Given the description of an element on the screen output the (x, y) to click on. 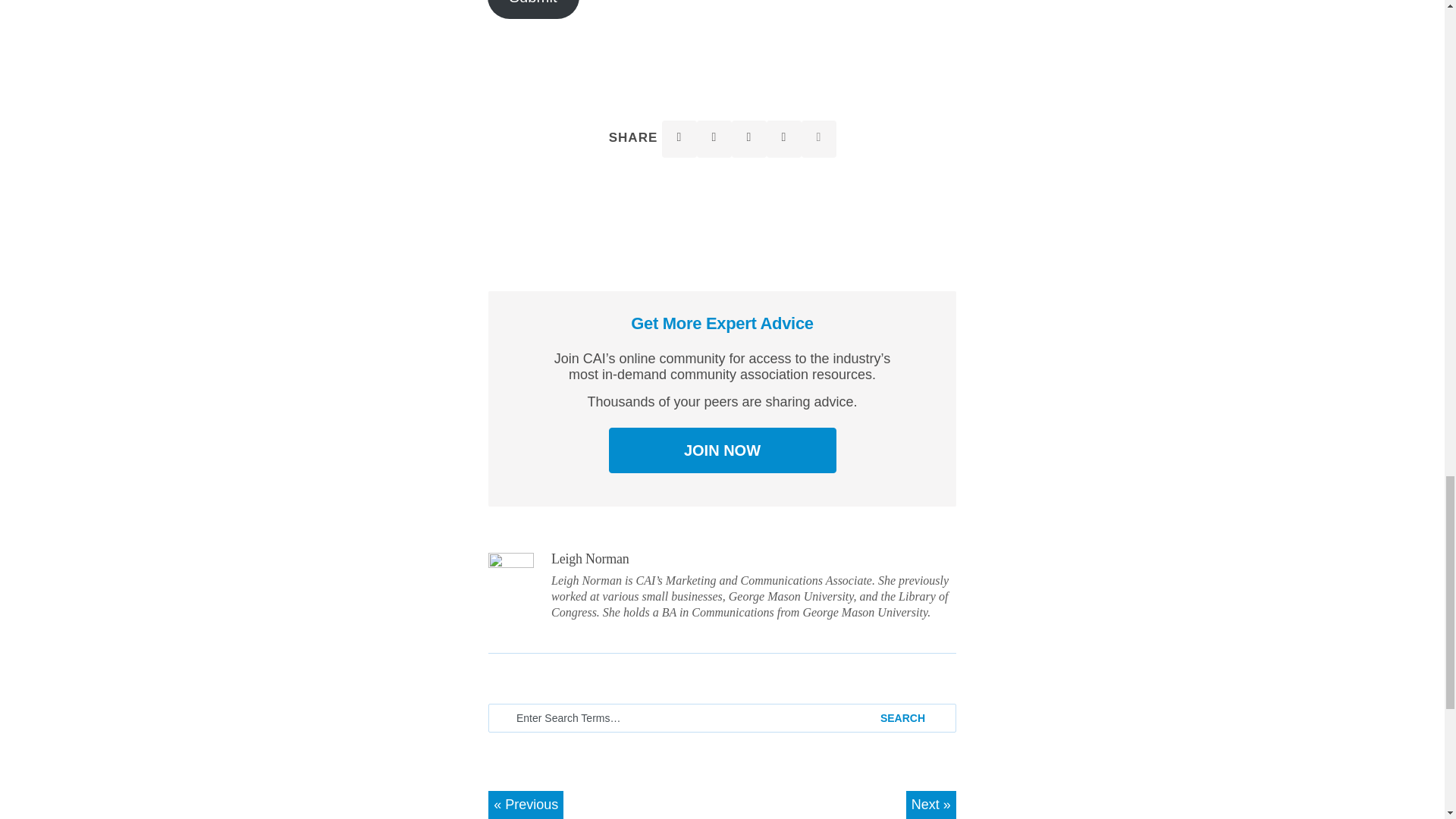
JOIN NOW (721, 450)
Search (910, 717)
Submit (532, 9)
Search (910, 717)
